Given the description of an element on the screen output the (x, y) to click on. 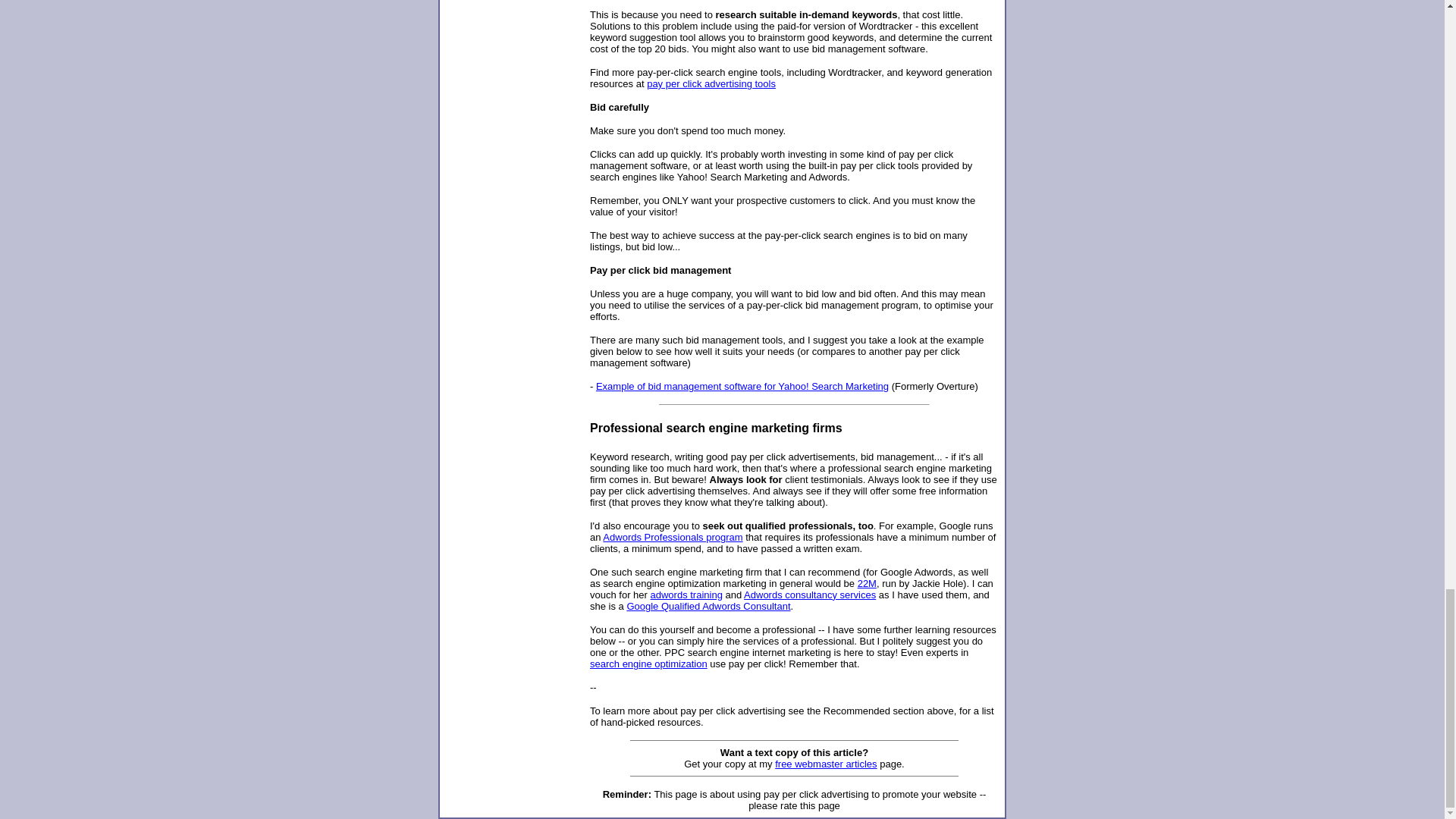
Adwords Professionals program (672, 536)
pay per click advertising tools (711, 83)
22M (866, 583)
adwords training (686, 594)
Adwords consultancy services (810, 594)
